Given the description of an element on the screen output the (x, y) to click on. 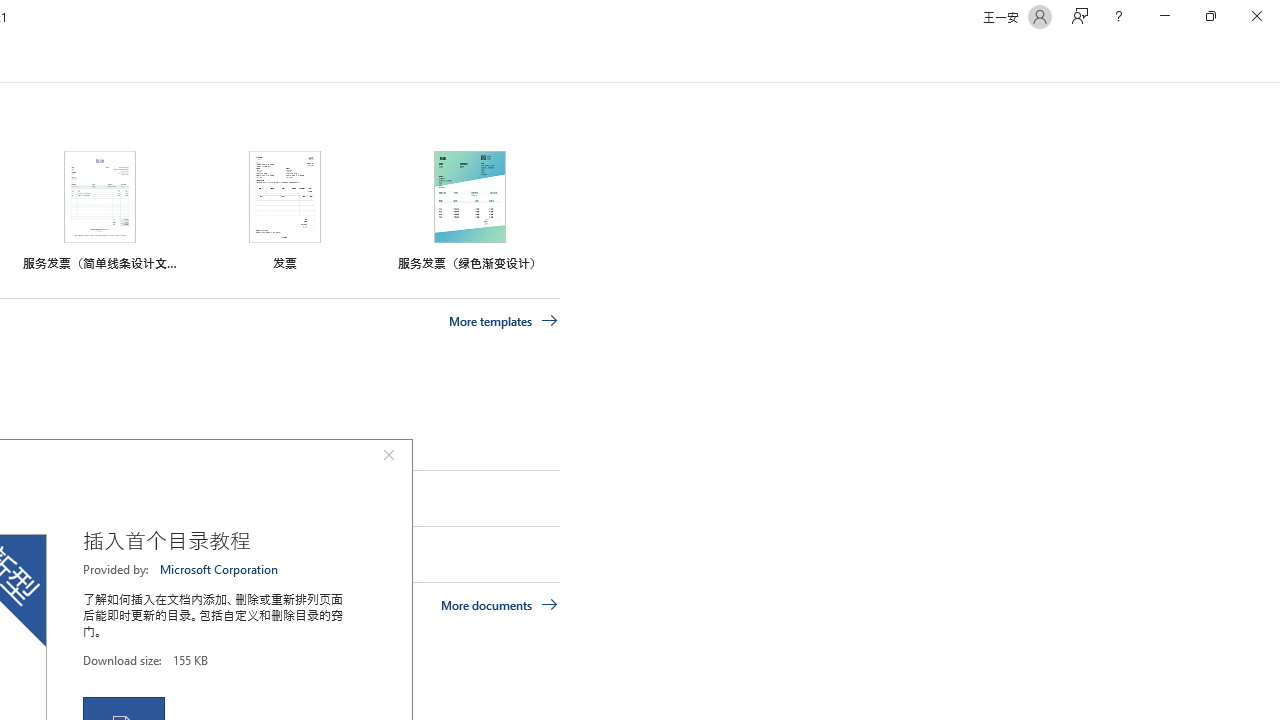
More templates (503, 321)
Pin this item to the list (20, 553)
Restore Down (1210, 16)
More documents (499, 604)
Class: NetUIScrollBar (1271, 59)
Close (1256, 16)
Microsoft Corporation (220, 569)
Help (1118, 16)
Minimize (1164, 16)
